Given the description of an element on the screen output the (x, y) to click on. 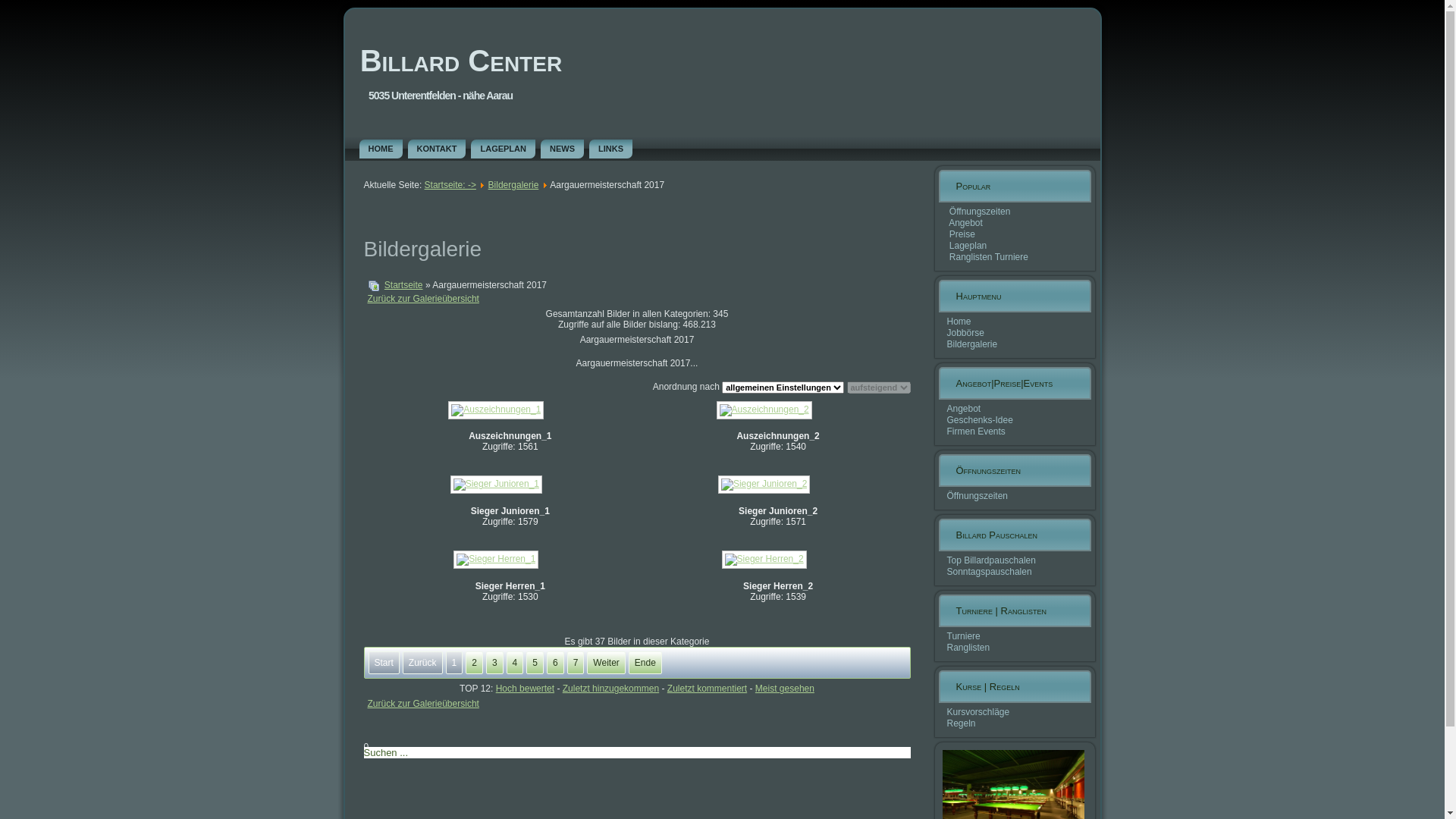
Billard Center Element type: text (460, 60)
Sieger Herren_1 Element type: hover (497, 560)
5 Element type: text (534, 662)
KONTAKT Element type: text (436, 148)
2 Element type: text (474, 662)
Turniere Element type: text (962, 635)
Sieger Herren_2 Element type: hover (765, 560)
7 Element type: text (575, 662)
Zuletzt hinzugekommen Element type: text (610, 688)
Auszeichnungen_2 Element type: hover (765, 411)
Angebot Element type: text (963, 408)
Ende Element type: text (645, 662)
HOME Element type: text (380, 148)
Startseite Element type: text (403, 284)
LAGEPLAN Element type: text (502, 148)
4 Element type: text (515, 662)
Bildergalerie Element type: text (971, 343)
Auszeichnungen_1 Element type: hover (497, 411)
Firmen Events Element type: text (975, 431)
Ranglisten Turniere Element type: text (988, 256)
6 Element type: text (555, 662)
Meist gesehen Element type: text (784, 688)
Regeln Element type: text (960, 723)
LINKS Element type: text (610, 148)
3 Element type: text (494, 662)
NEWS Element type: text (561, 148)
Preise Element type: text (962, 234)
Sonntagspauschalen Element type: text (988, 571)
Home Element type: text (958, 321)
Sieger Junioren_1 Element type: hover (497, 485)
Top Billardpauschalen Element type: text (990, 560)
Sieger Junioren_2 Element type: hover (765, 485)
Hoch bewertet Element type: text (524, 688)
Ranglisten Element type: text (967, 647)
Geschenks-Idee Element type: text (979, 419)
Startseite: -> Element type: text (450, 184)
Zuletzt kommentiert Element type: text (706, 688)
Weiter Element type: text (605, 662)
Lageplan Element type: text (967, 245)
Bildergalerie Element type: text (513, 184)
Angebot Element type: text (965, 222)
